Given the description of an element on the screen output the (x, y) to click on. 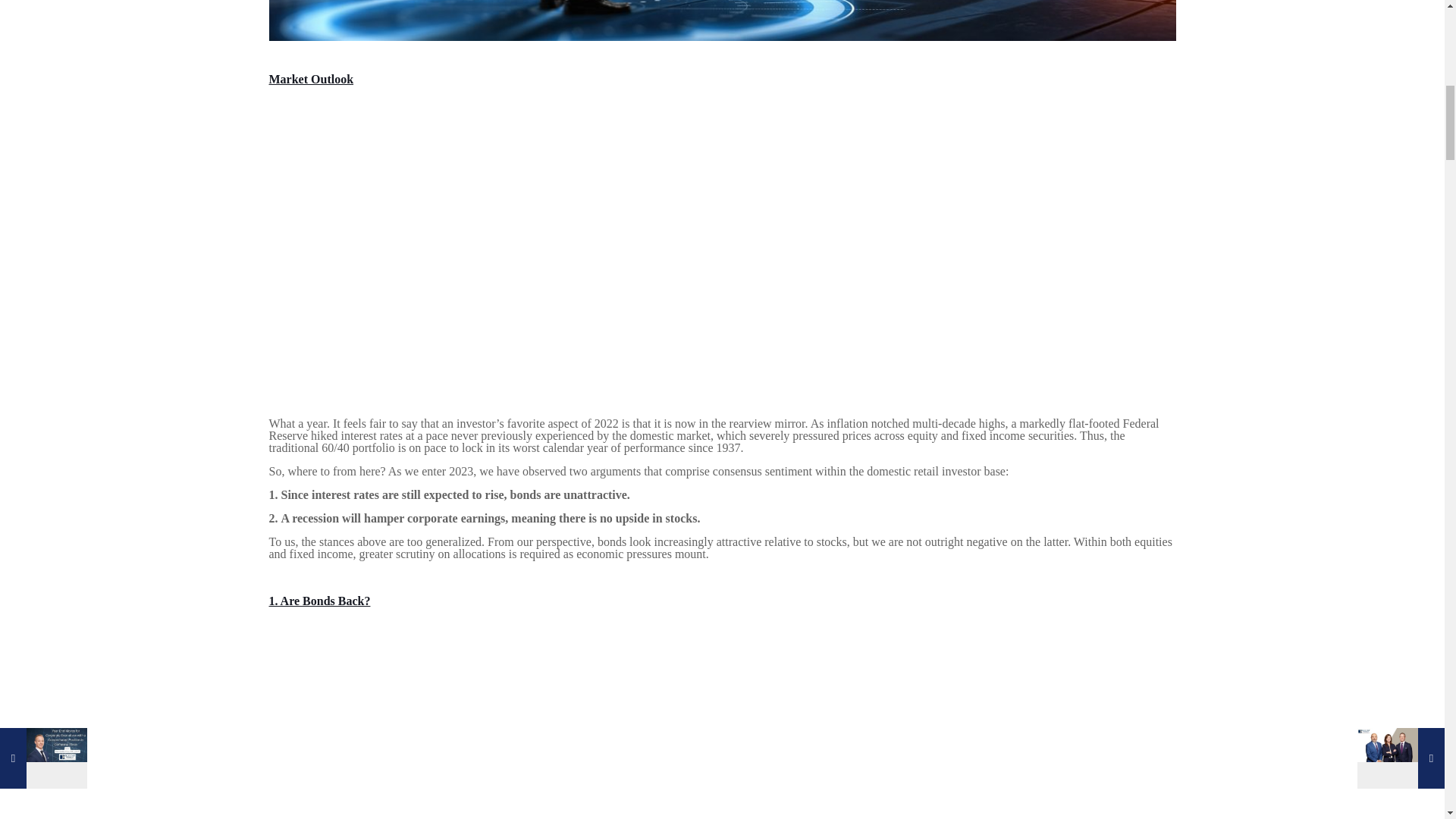
2023 Q1 Quarterly Edge - Are Bonds Back? (533, 719)
